Given the description of an element on the screen output the (x, y) to click on. 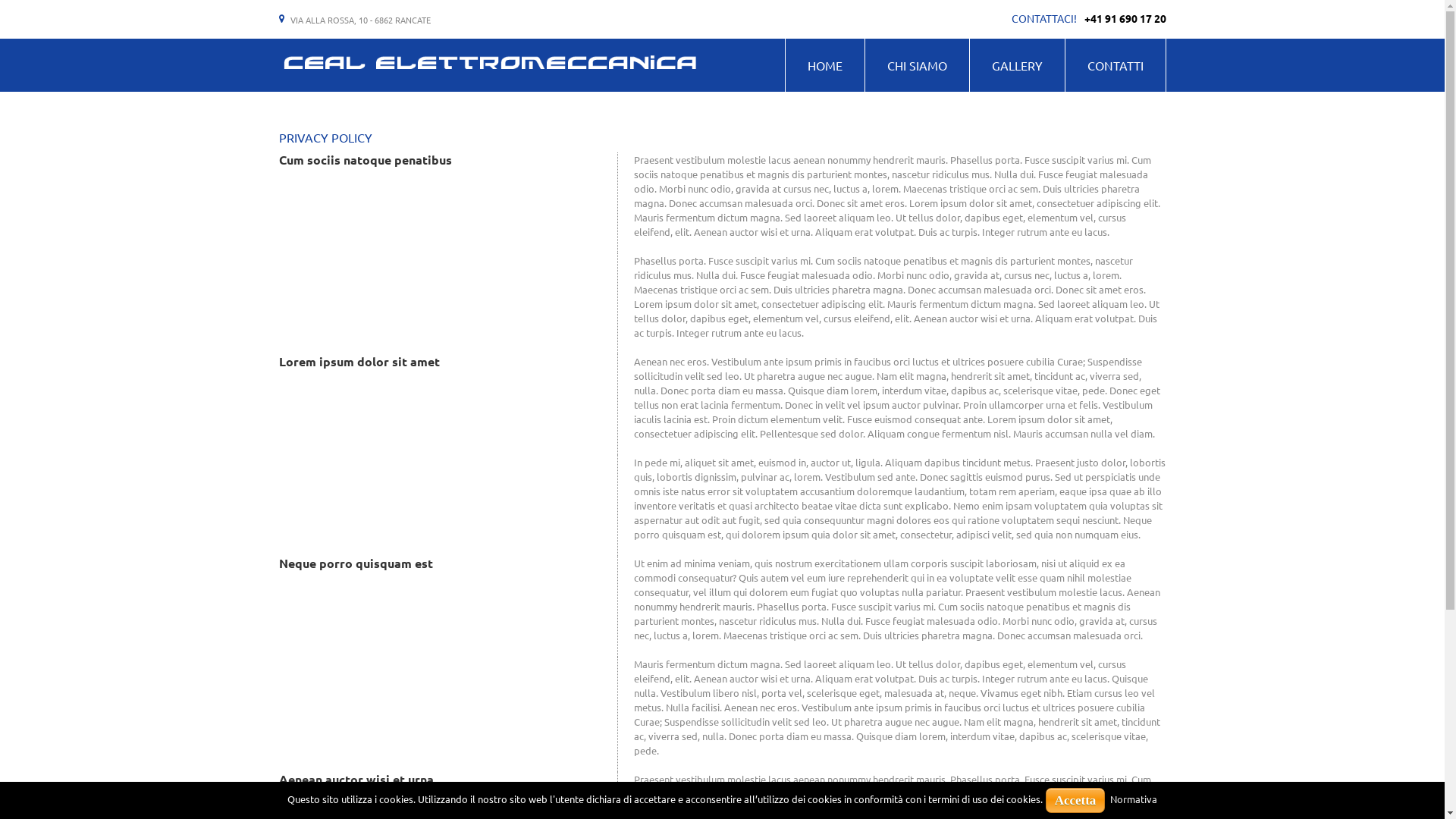
GALLERY Element type: text (1016, 64)
Accetta Element type: text (1075, 799)
HOME Element type: text (824, 64)
CONTATTACI! Element type: text (1043, 18)
CONTATTI Element type: text (1114, 64)
CHI SIAMO Element type: text (916, 64)
MAP-MARKER Element type: text (281, 19)
Normativa Element type: text (1133, 798)
